Given the description of an element on the screen output the (x, y) to click on. 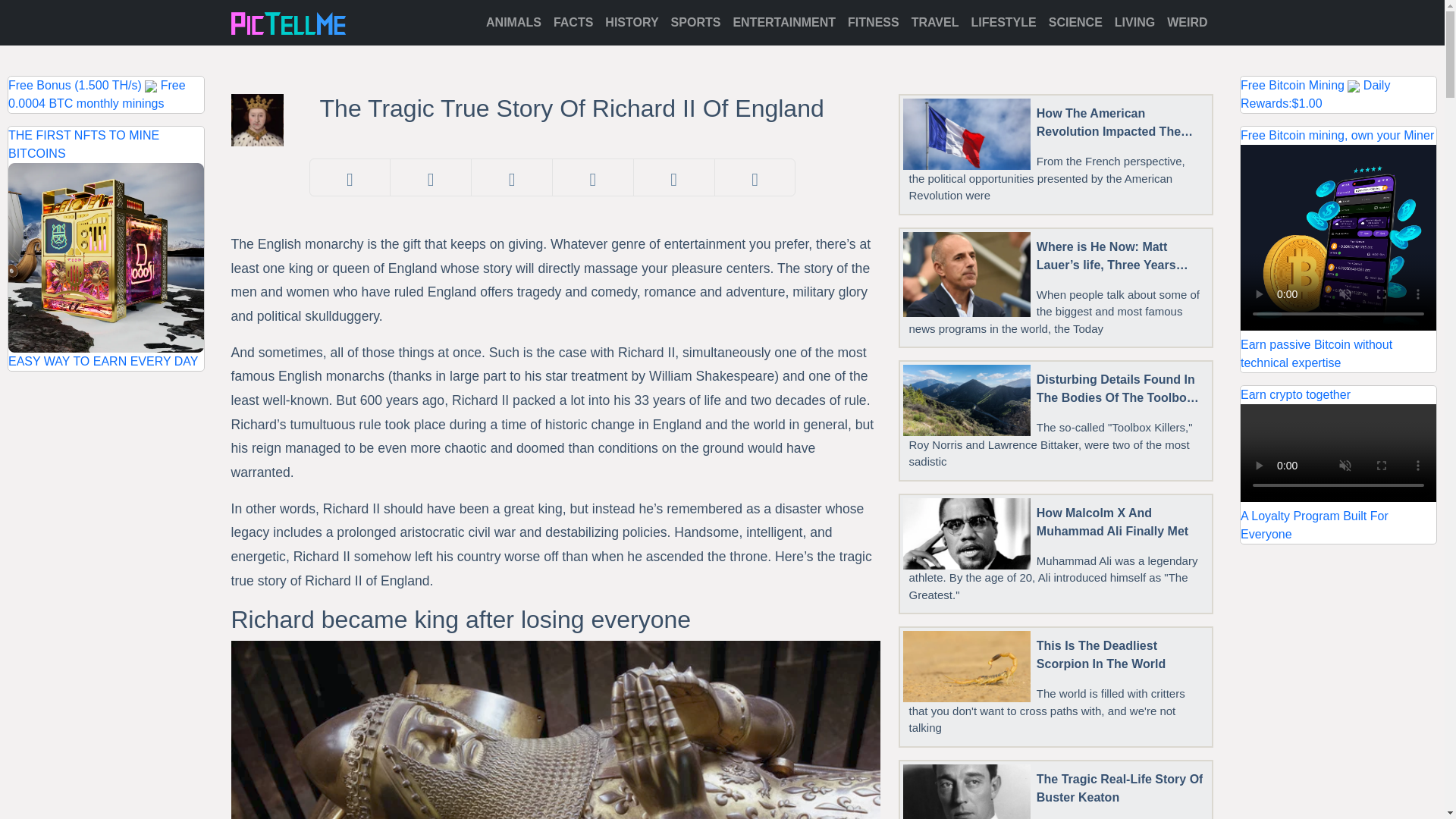
HISTORY (630, 22)
LIVING (1134, 22)
LIFESTYLE (1002, 22)
SCIENCE (1075, 22)
TRAVEL (935, 22)
FITNESS (873, 22)
SPORTS (695, 22)
FACTS (572, 22)
ANIMALS (513, 22)
WEIRD (1186, 22)
ENTERTAINMENT (783, 22)
